Given the description of an element on the screen output the (x, y) to click on. 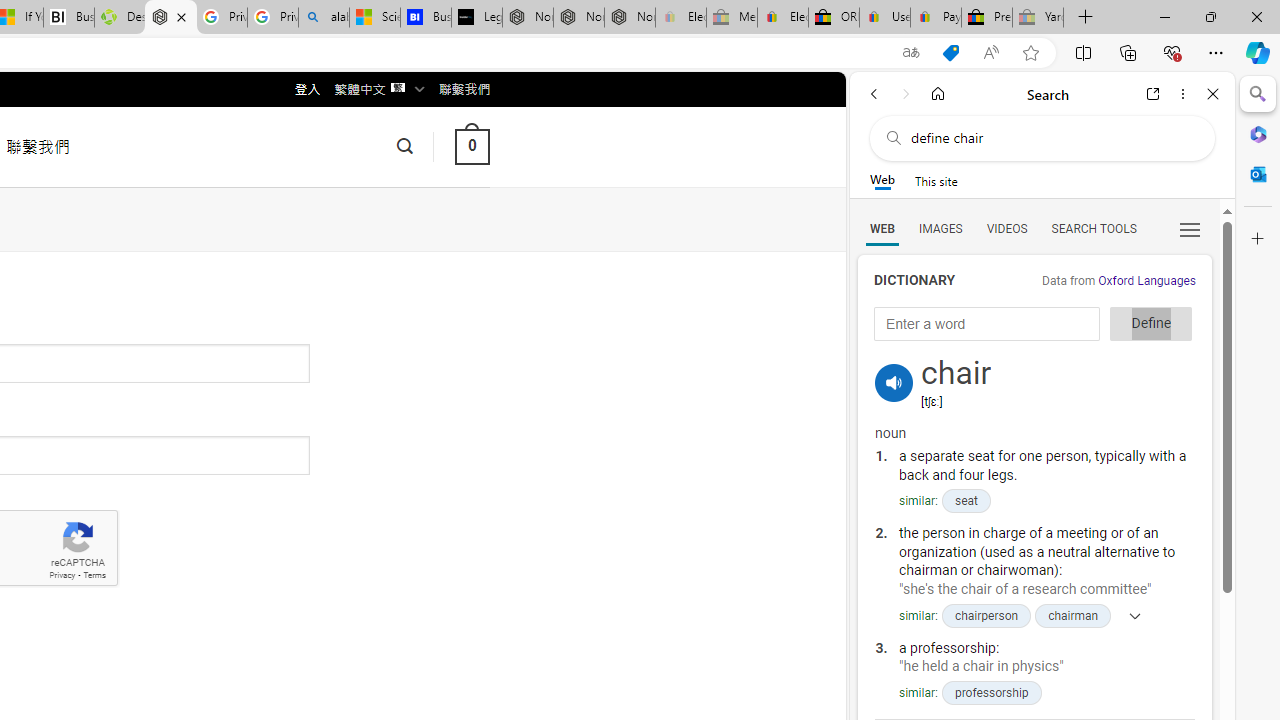
Link for logging (893, 359)
Enter a word (987, 323)
Search Filter, Search Tools (1093, 228)
Payments Terms of Use | eBay.com (936, 17)
pronounce (893, 382)
